Given the description of an element on the screen output the (x, y) to click on. 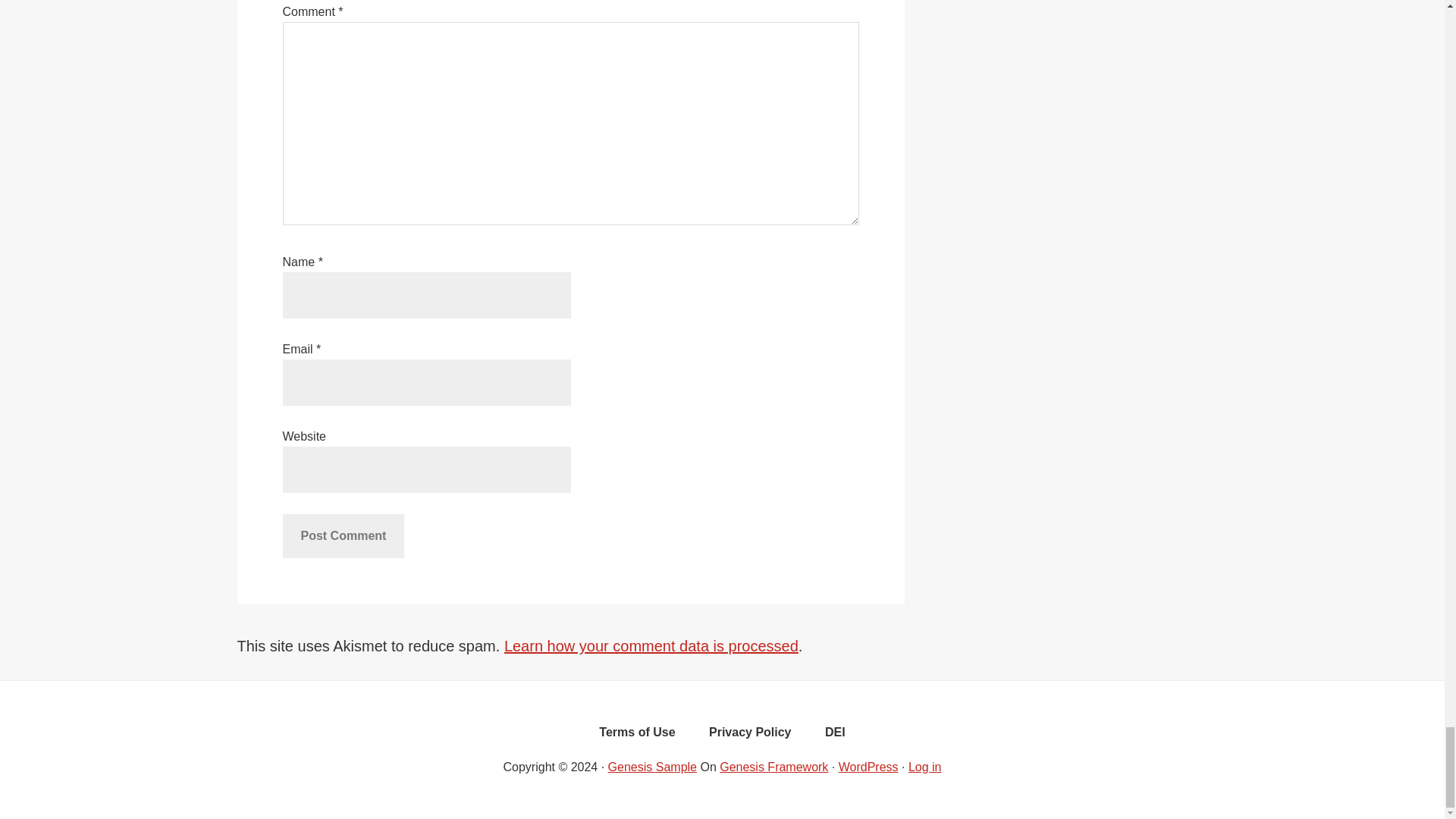
Terms of Use (636, 736)
Post Comment (343, 535)
Post Comment (343, 535)
Log in (925, 766)
WordPress (868, 766)
Genesis Sample (652, 766)
Learn how your comment data is processed (650, 646)
Privacy Policy (750, 736)
DEI (834, 736)
Genesis Framework (773, 766)
